Given the description of an element on the screen output the (x, y) to click on. 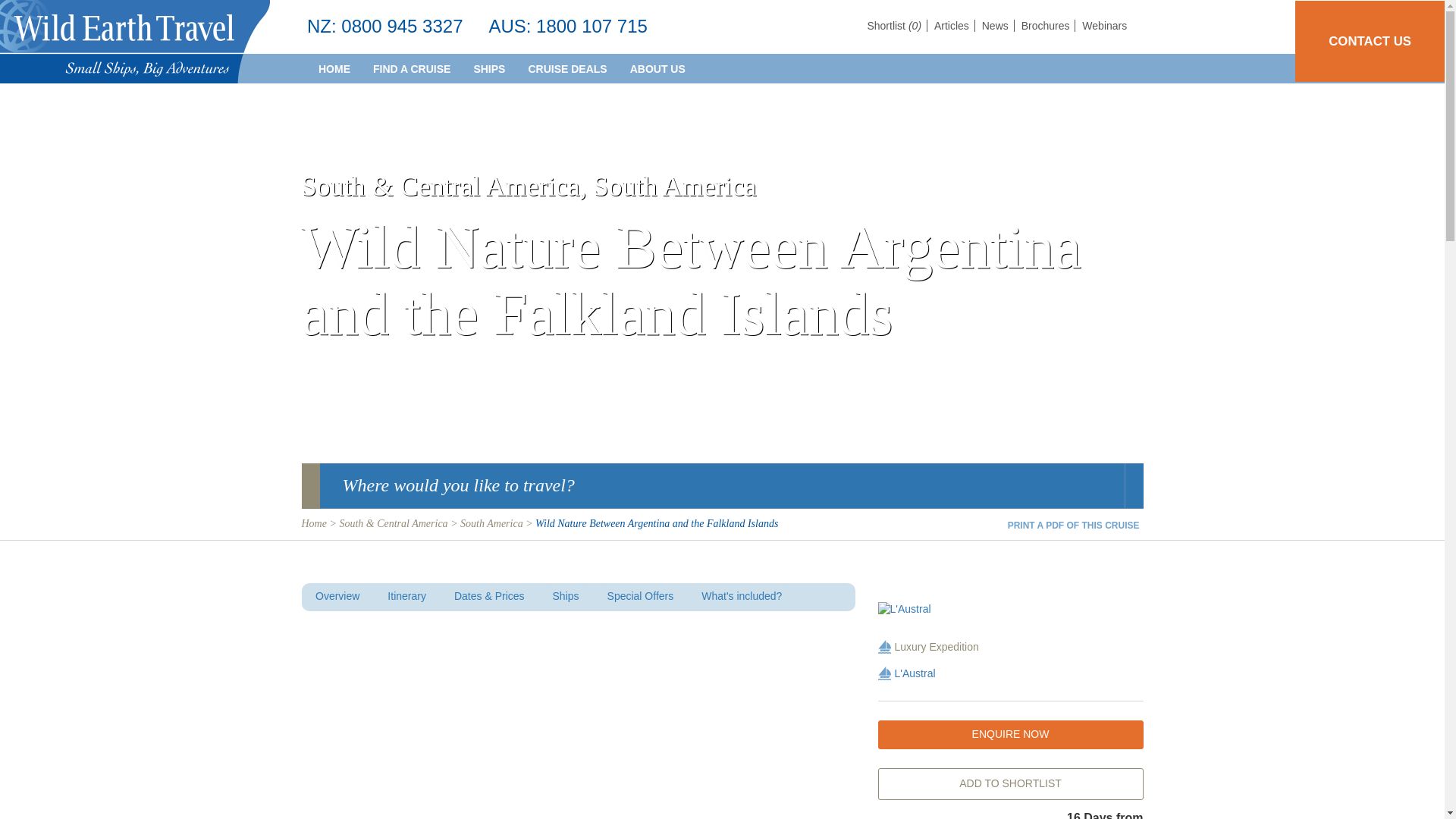
South America Luxury Expedition (884, 646)
Webinars (1103, 25)
0800 945 3327 (401, 25)
Wild Earth Travel Logo (134, 41)
1800 107 715 (591, 25)
Articles (954, 25)
Brochures (1048, 25)
News (997, 25)
Wild Nature Between Argentina and the Falkland Islands (1009, 609)
